Given the description of an element on the screen output the (x, y) to click on. 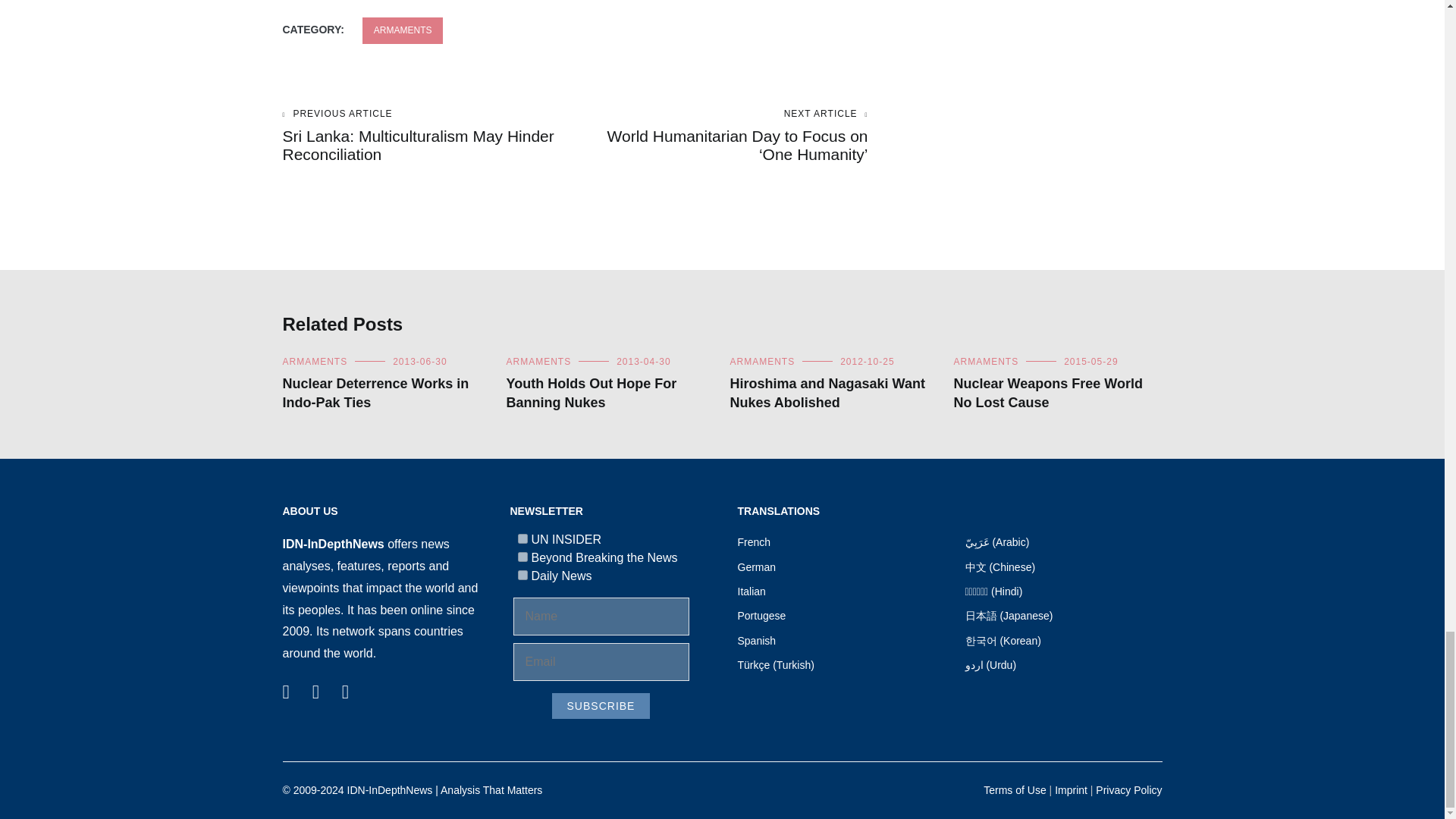
Imprint (1070, 789)
10 (521, 574)
7 (521, 538)
Terms of Use (1014, 789)
9 (521, 556)
